Given the description of an element on the screen output the (x, y) to click on. 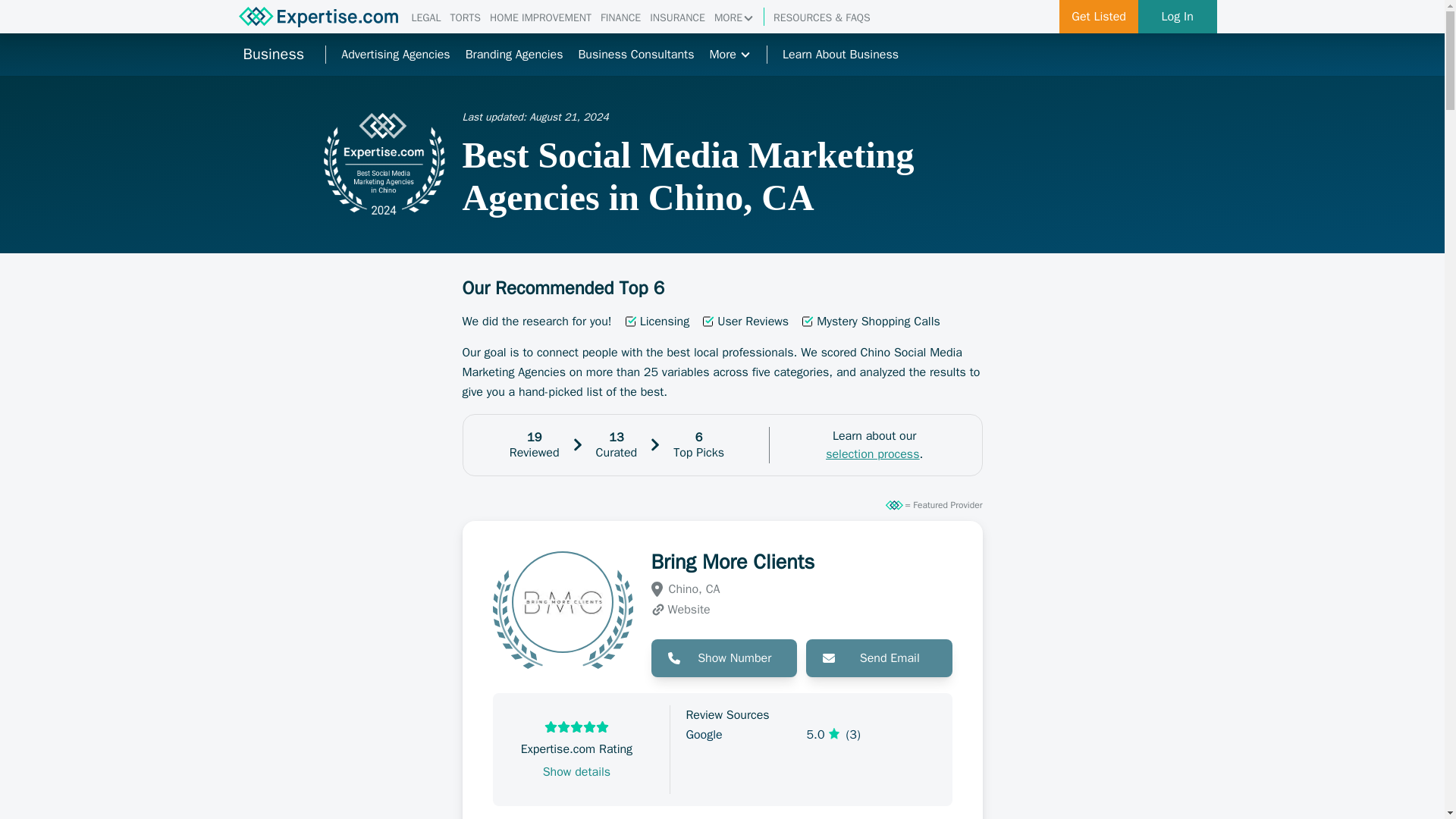
FINANCE (619, 17)
Business (272, 53)
Branding Agencies (514, 54)
Advertising Agencies (394, 54)
Get Listed (1098, 16)
More (730, 54)
MORE (734, 17)
LEGAL (425, 17)
HOME IMPROVEMENT (540, 17)
TORTS (464, 17)
